Given the description of an element on the screen output the (x, y) to click on. 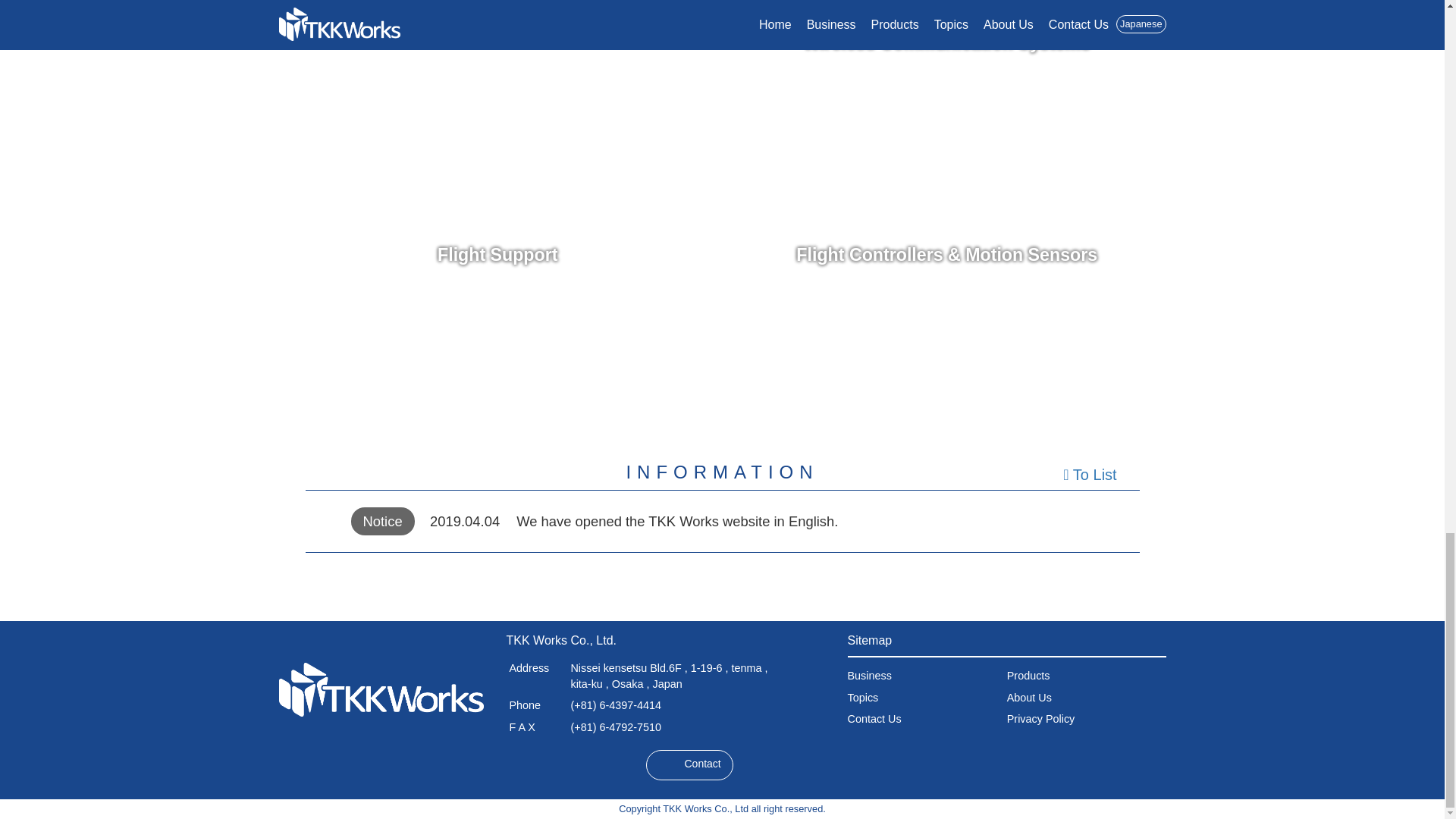
Contact Us (874, 718)
About Us (1029, 697)
To List (1089, 474)
Products (1028, 675)
Unmanned Aerial Vehicles (498, 64)
Topics (863, 697)
Notice (381, 520)
Contact (689, 765)
Privacy Policy (1041, 718)
Flight Support (498, 254)
Business (869, 675)
